Given the description of an element on the screen output the (x, y) to click on. 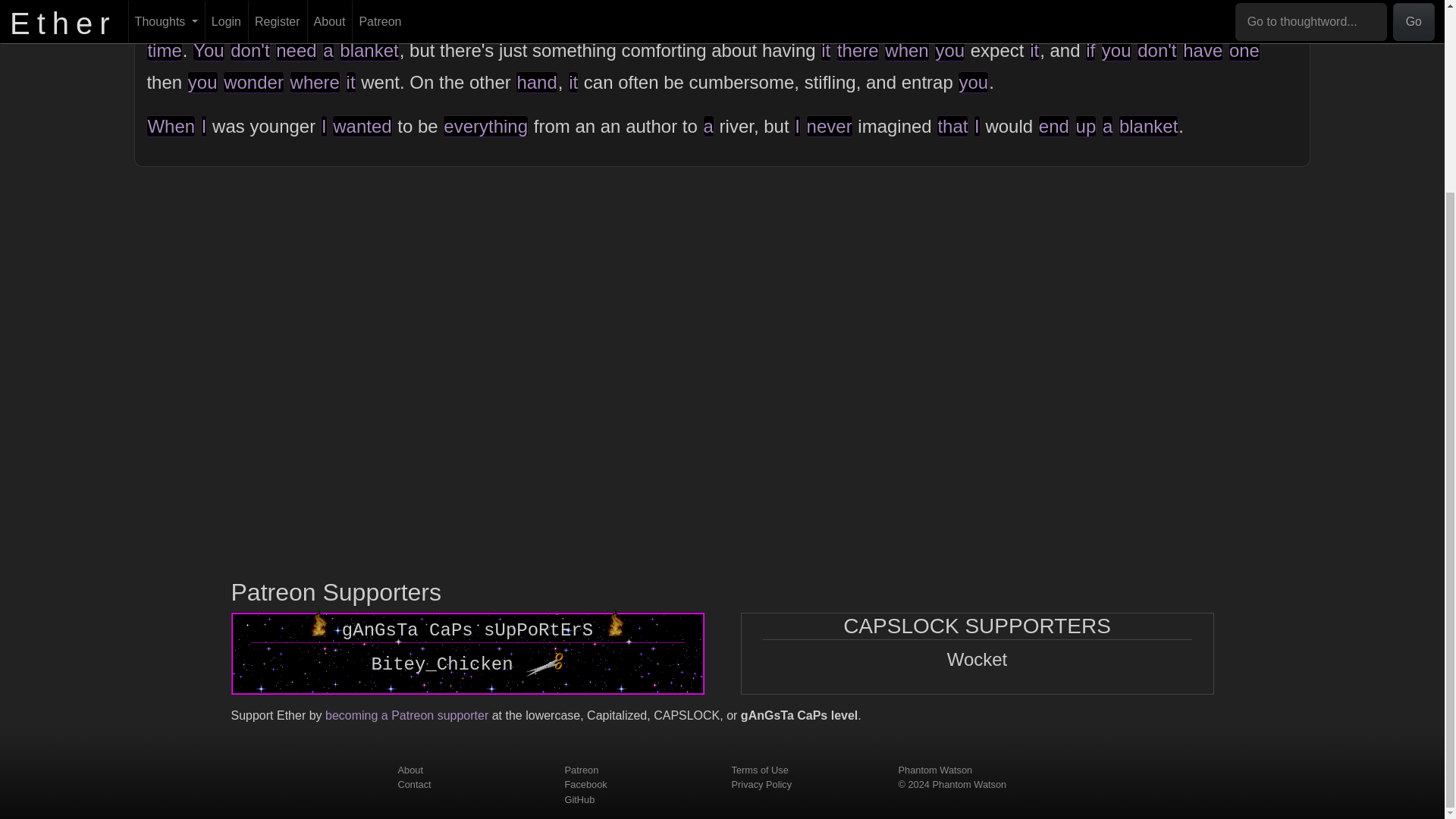
like (1077, 18)
You (208, 50)
need (296, 50)
Check out the number my hitcounter is up to! (543, 664)
place (748, 18)
out (253, 18)
you (1116, 50)
blanket (1143, 18)
when (905, 50)
blanket (368, 50)
